Given the description of an element on the screen output the (x, y) to click on. 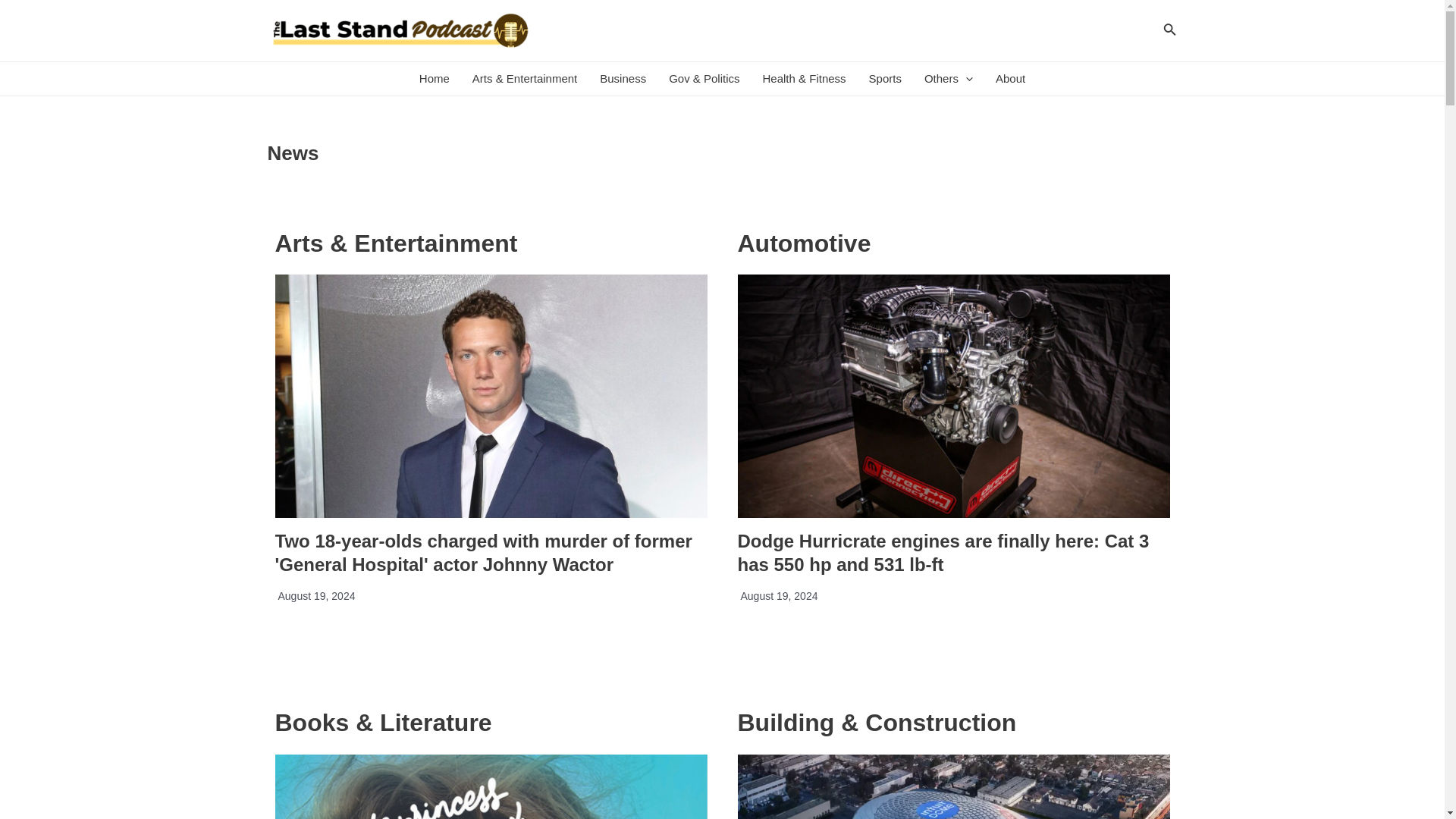
Home (434, 78)
Others (948, 78)
About (1010, 78)
Sports (884, 78)
Business (623, 78)
